Given the description of an element on the screen output the (x, y) to click on. 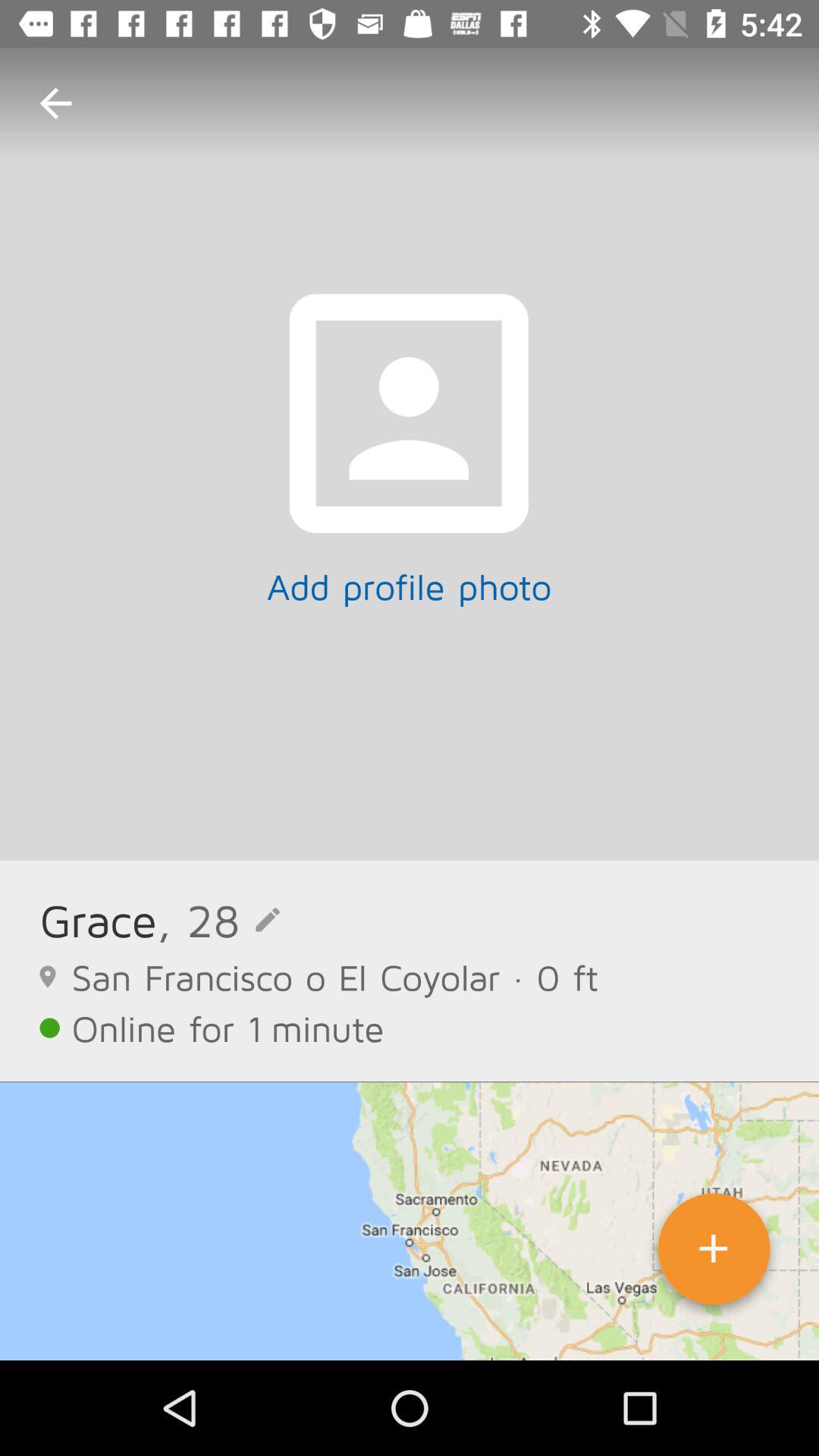
flip until the , 28 icon (217, 919)
